Given the description of an element on the screen output the (x, y) to click on. 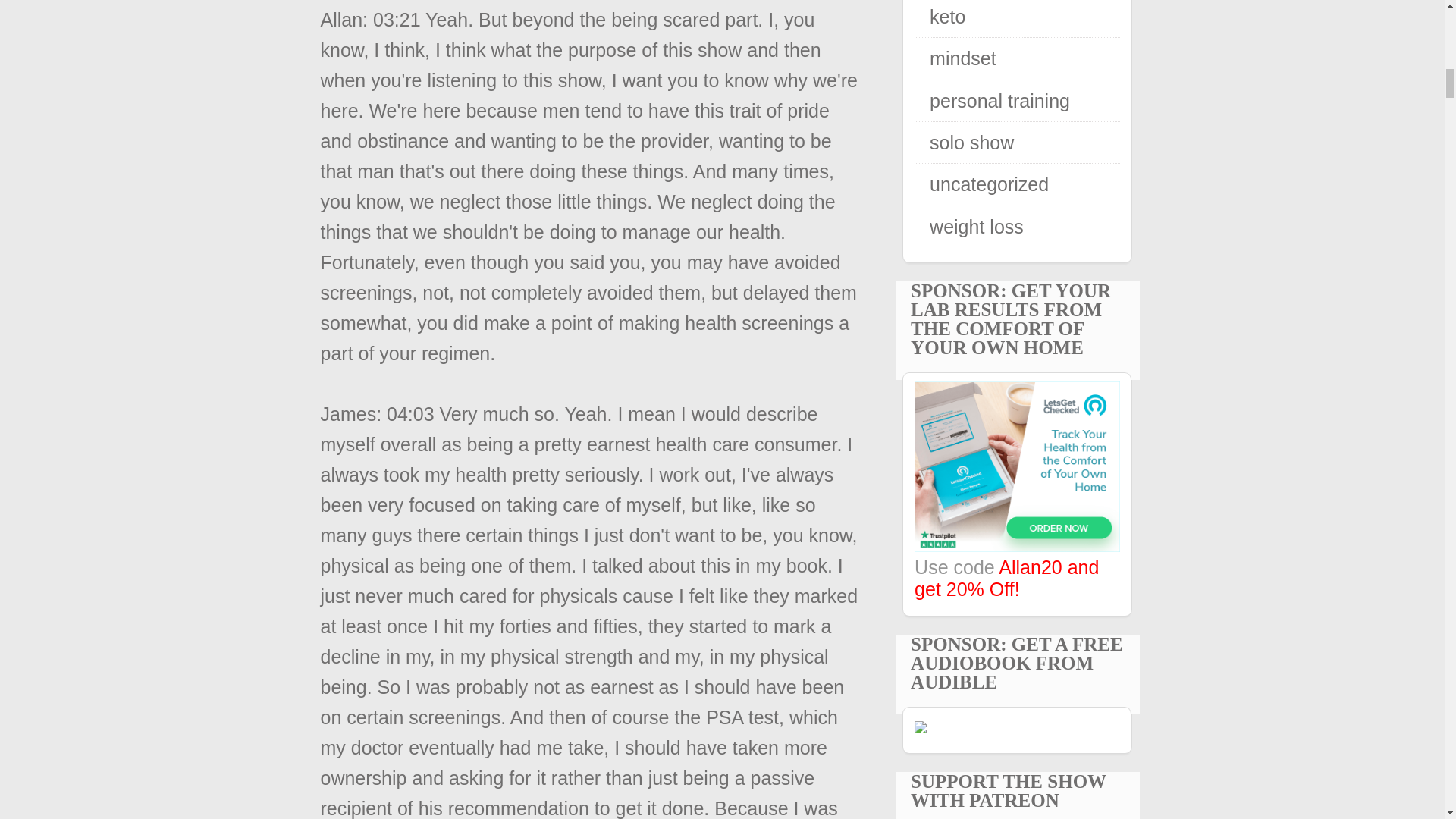
uncategorized (989, 183)
Blood work and lab testing from the comfort of your own home (1016, 545)
mindset (962, 57)
solo show (971, 142)
keto (947, 16)
weight loss (976, 226)
personal training (1000, 100)
